Given the description of an element on the screen output the (x, y) to click on. 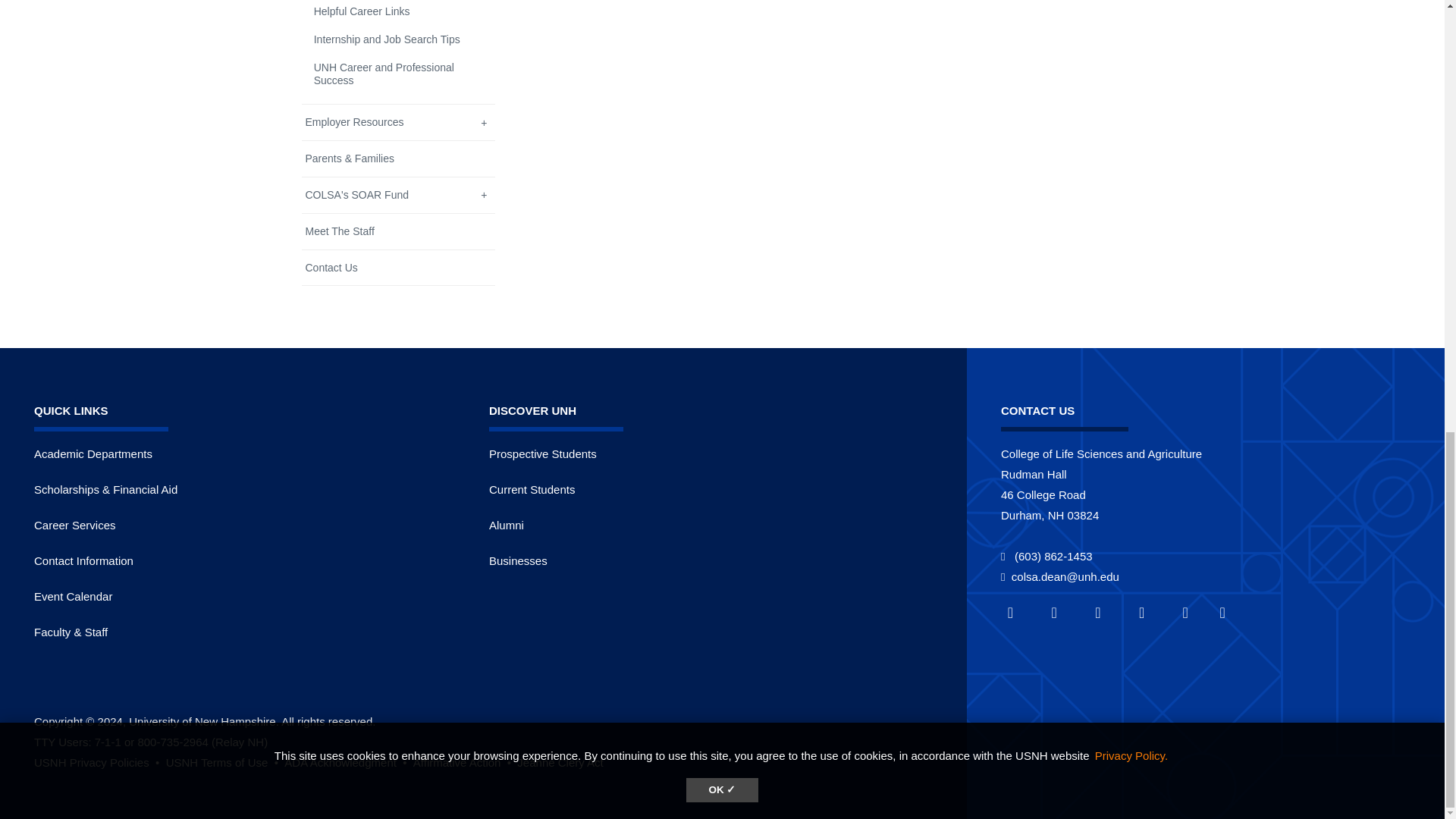
Learn (463, 762)
To Youtube (1149, 612)
To Facebook (1018, 612)
Learn (223, 762)
COLSA Career Office (74, 524)
To tiktok (1228, 612)
Dean's Office (83, 560)
Learn (97, 762)
To Twitter (1062, 612)
To LinkedIn (1105, 612)
